Given the description of an element on the screen output the (x, y) to click on. 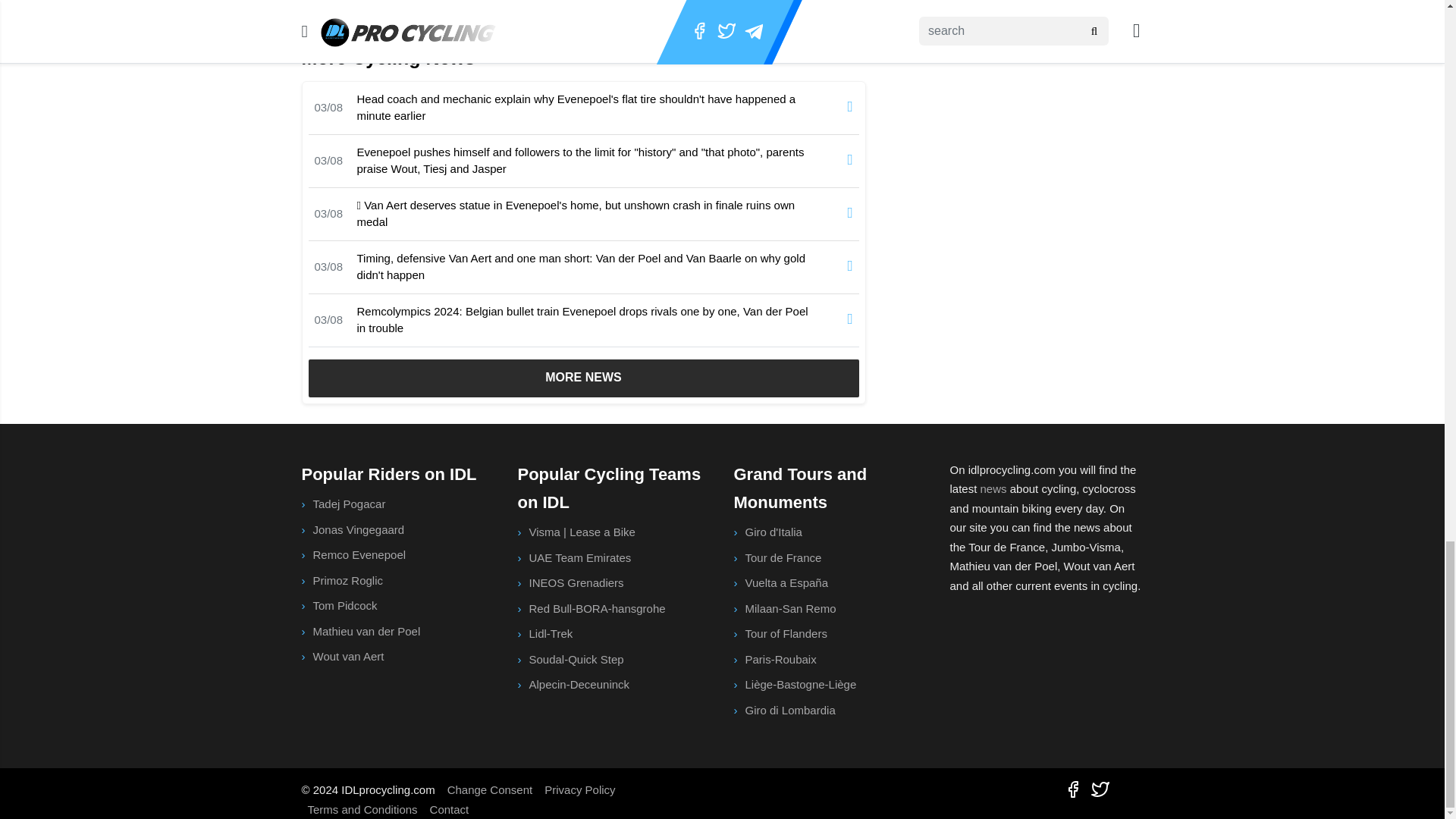
Privacy Policy (579, 789)
